Given the description of an element on the screen output the (x, y) to click on. 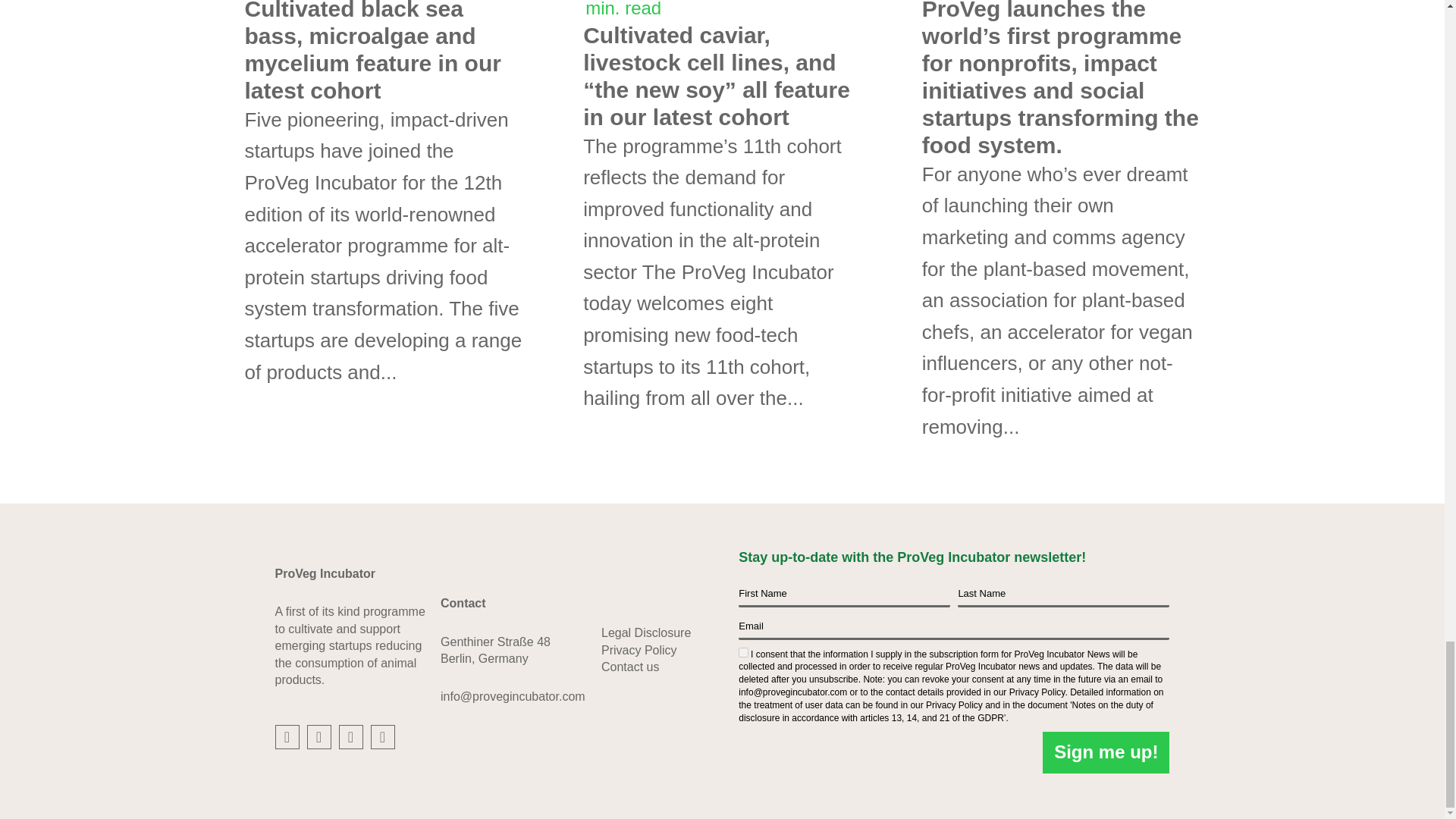
on (743, 652)
Sign me up! (1105, 752)
Legal Disclosure (645, 632)
Privacy Policy (639, 649)
Contact us (630, 666)
